Given the description of an element on the screen output the (x, y) to click on. 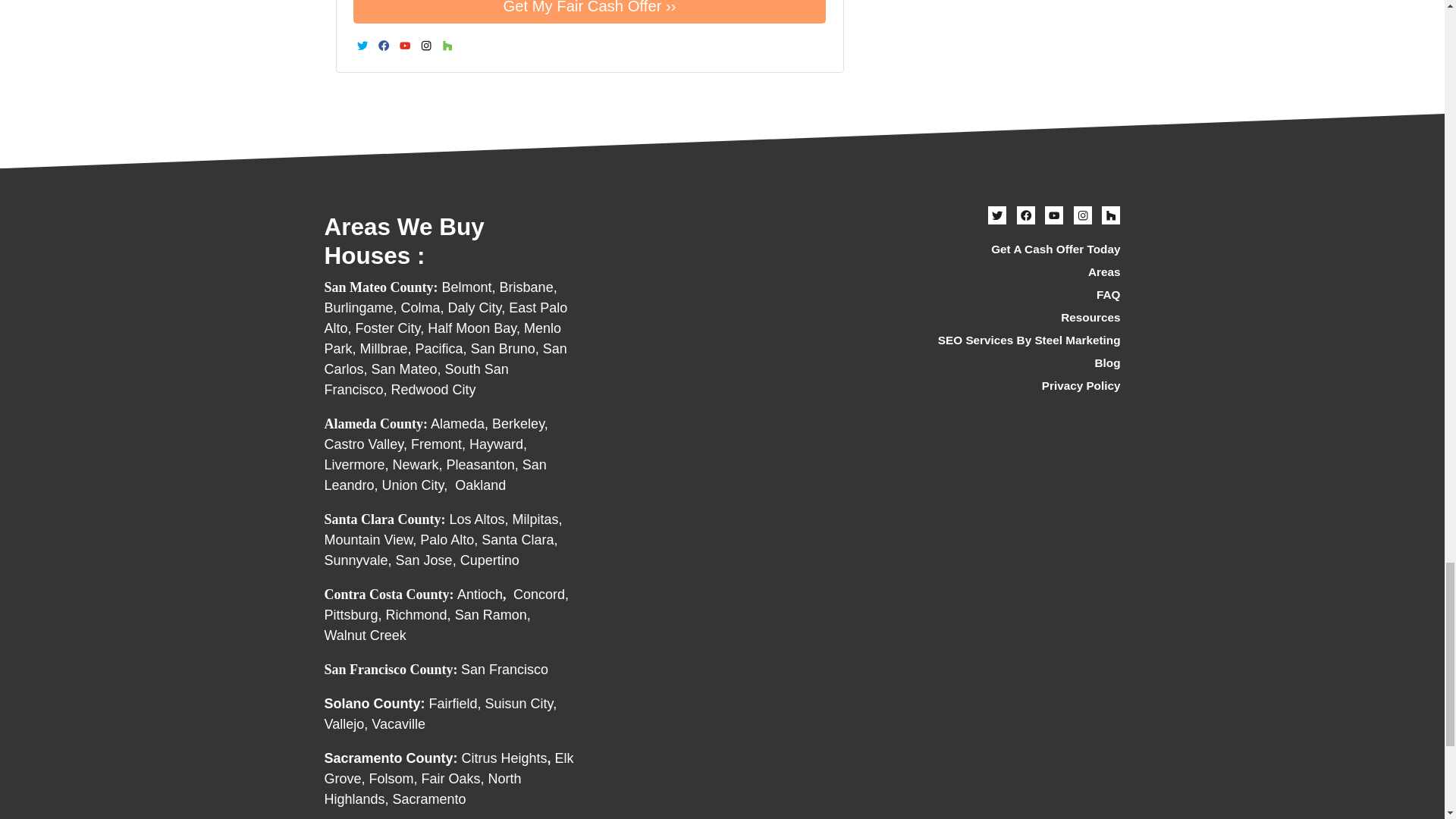
Menlo Park, California (443, 338)
Privacy Policy (995, 386)
Brisbane (526, 287)
Pacifica, California (438, 348)
Instagram (425, 45)
Millbrae, California (383, 348)
East Palo Alto, California (445, 317)
Brisbane, California (526, 287)
Twitter (362, 45)
YouTube (404, 45)
Houzz (447, 45)
SEO Services By Steel Marketing (995, 340)
Belmont (467, 287)
San Carlos, California (445, 358)
Blog (995, 363)
